Given the description of an element on the screen output the (x, y) to click on. 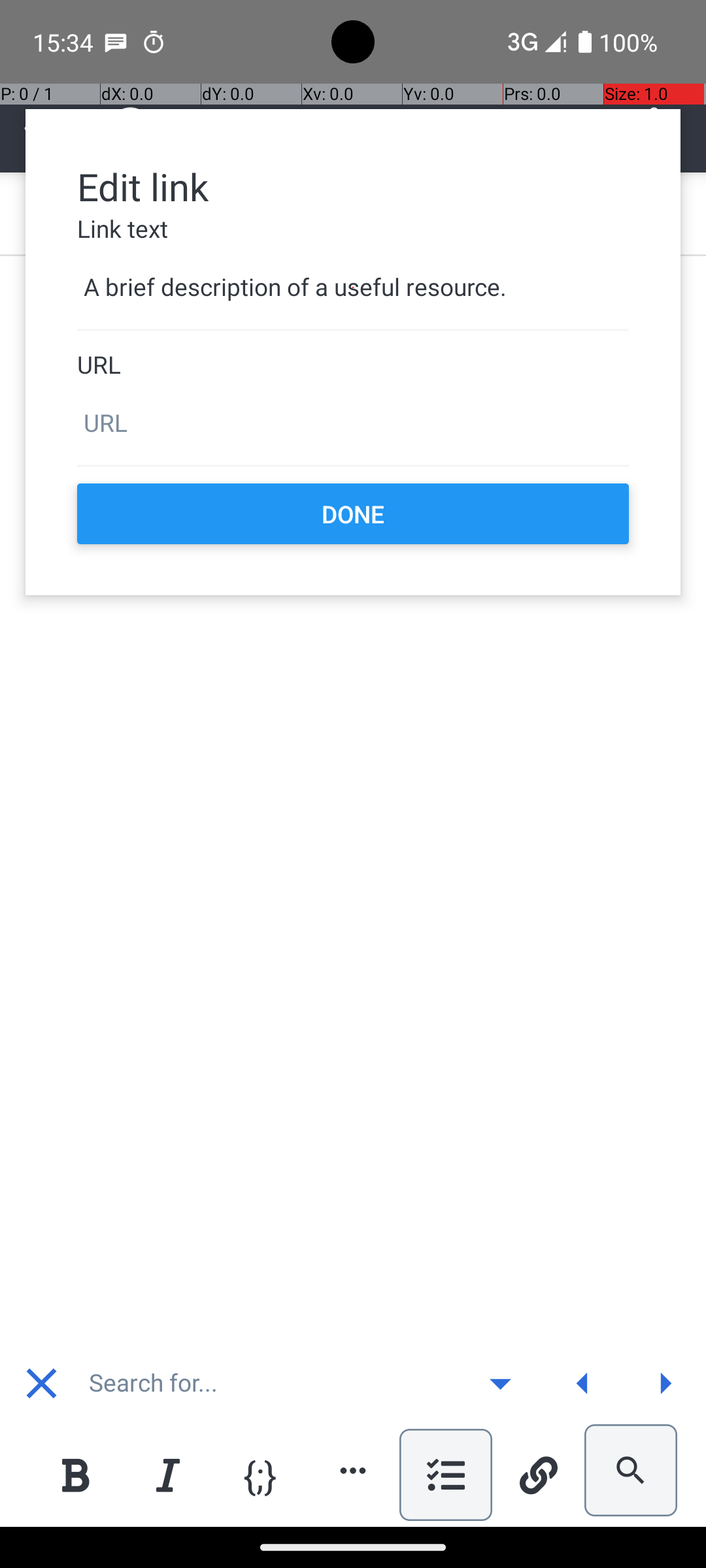
Edit link Element type: android.widget.TextView (352, 185)
Link text Element type: android.widget.TextView (352, 228)
A brief description of a useful resource. Element type: android.widget.EditText (352, 287)
URL Element type: android.widget.TextView (352, 363)
DONE Element type: android.widget.TextView (352, 513)
